Given the description of an element on the screen output the (x, y) to click on. 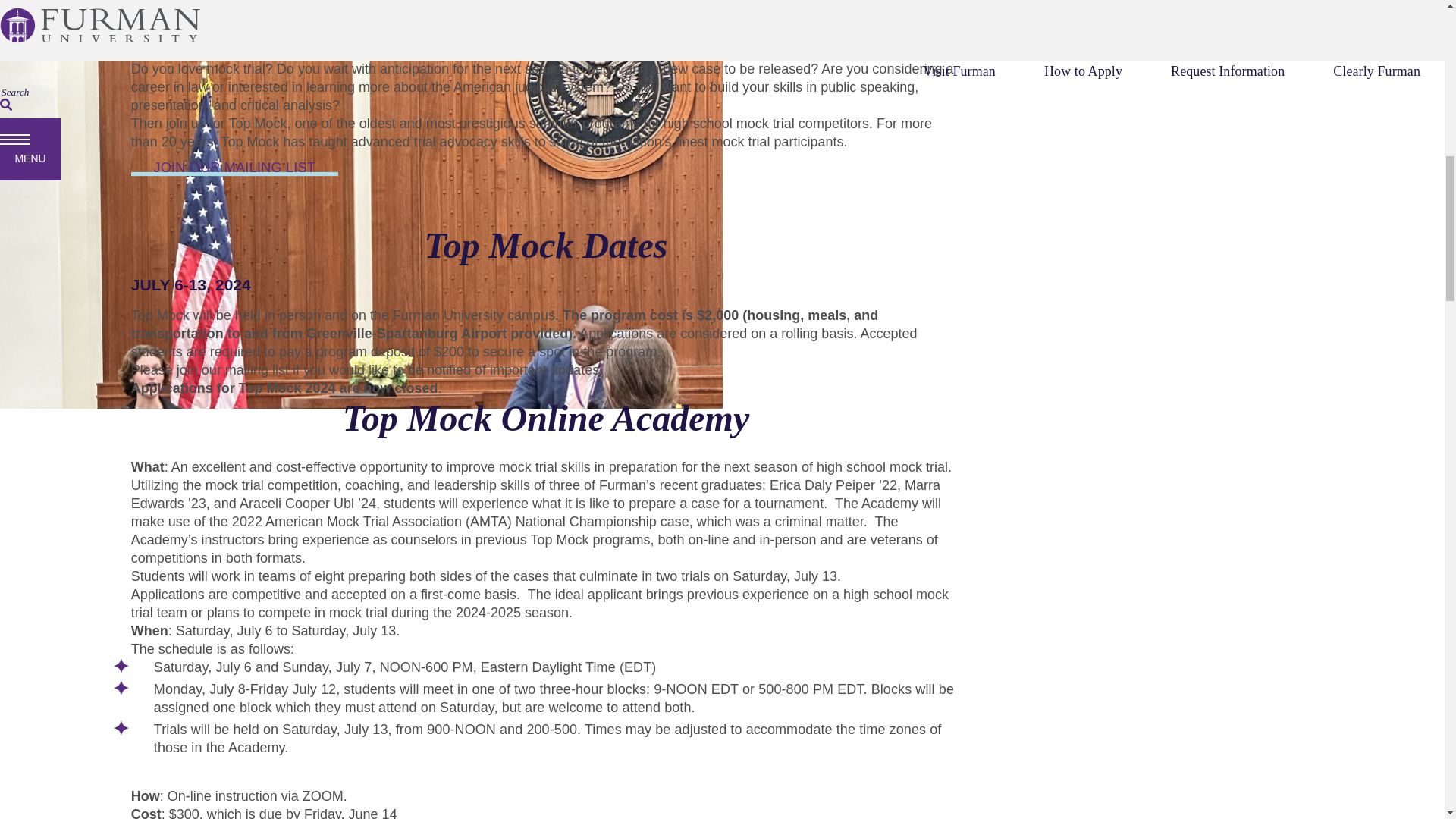
JOIN OUR MAILING LIST (234, 168)
